Given the description of an element on the screen output the (x, y) to click on. 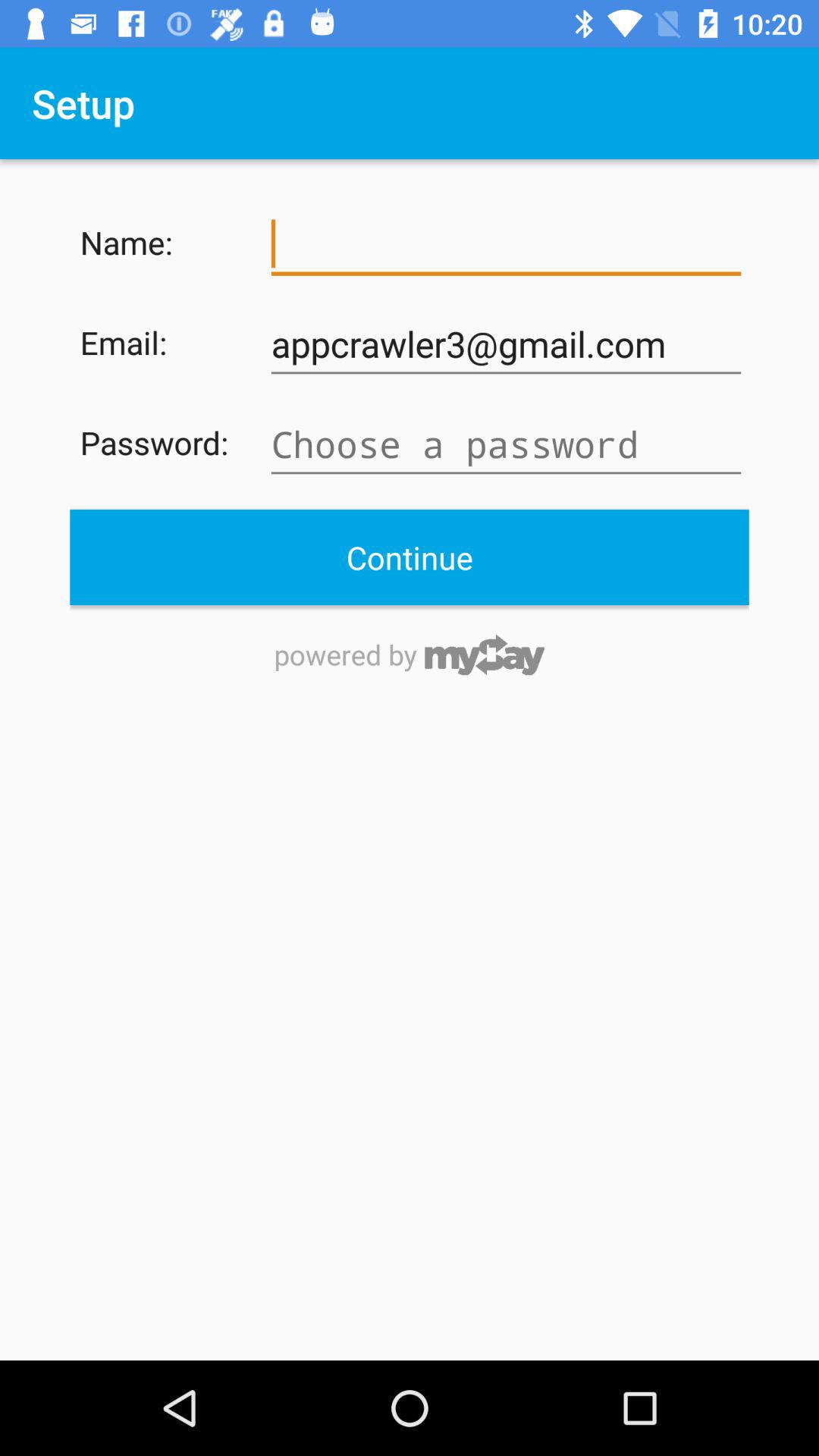
swipe until appcrawler3@gmail.com item (506, 344)
